Given the description of an element on the screen output the (x, y) to click on. 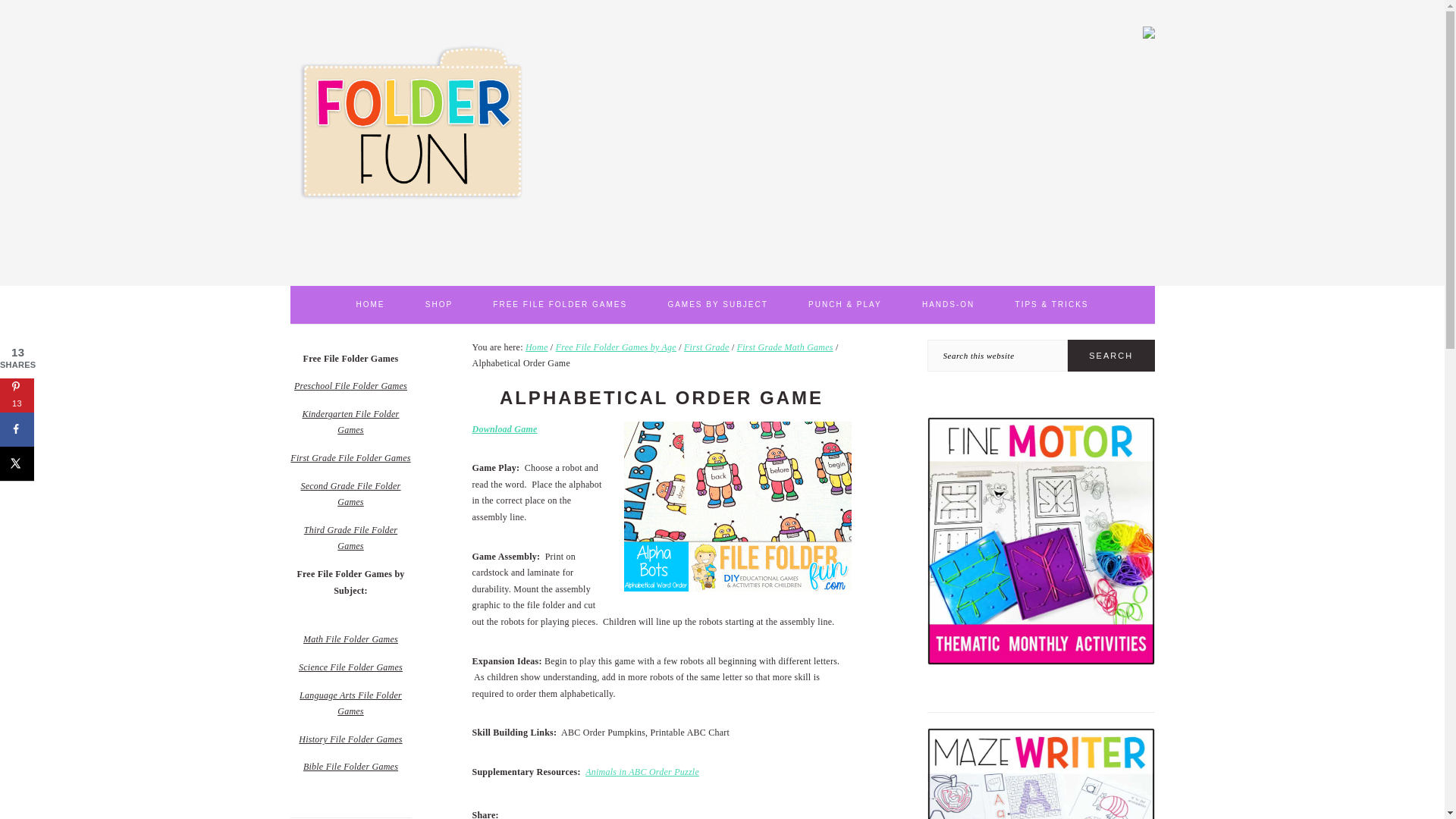
Search (1110, 355)
Share on X (16, 463)
First Grade (706, 347)
History File Folder Games (349, 738)
Search (1110, 355)
File Folder Fun (410, 255)
Free File Folder Games by Age (616, 347)
Bible File Folder Games (349, 766)
HANDS-ON (947, 304)
FREE FILE FOLDER GAMES (560, 304)
